Given the description of an element on the screen output the (x, y) to click on. 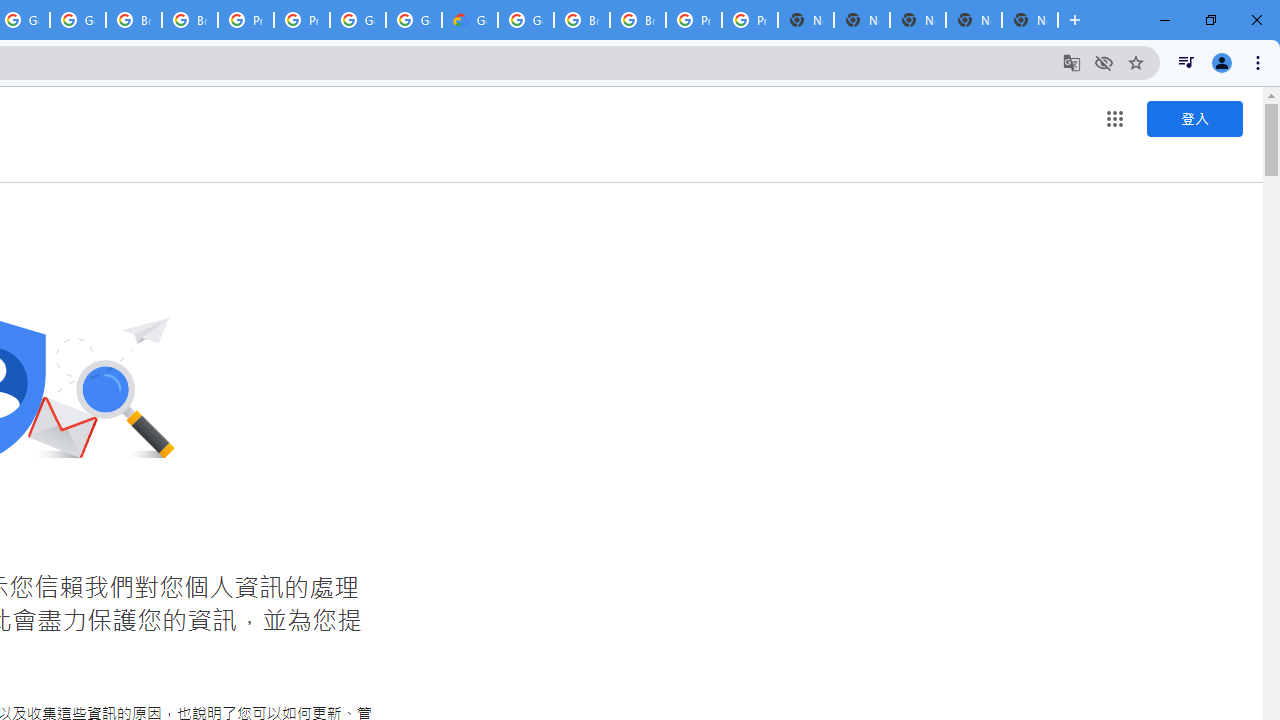
Translate this page (1071, 62)
Google Cloud Platform (358, 20)
Google Cloud Estimate Summary (469, 20)
Browse Chrome as a guest - Computer - Google Chrome Help (134, 20)
